Given the description of an element on the screen output the (x, y) to click on. 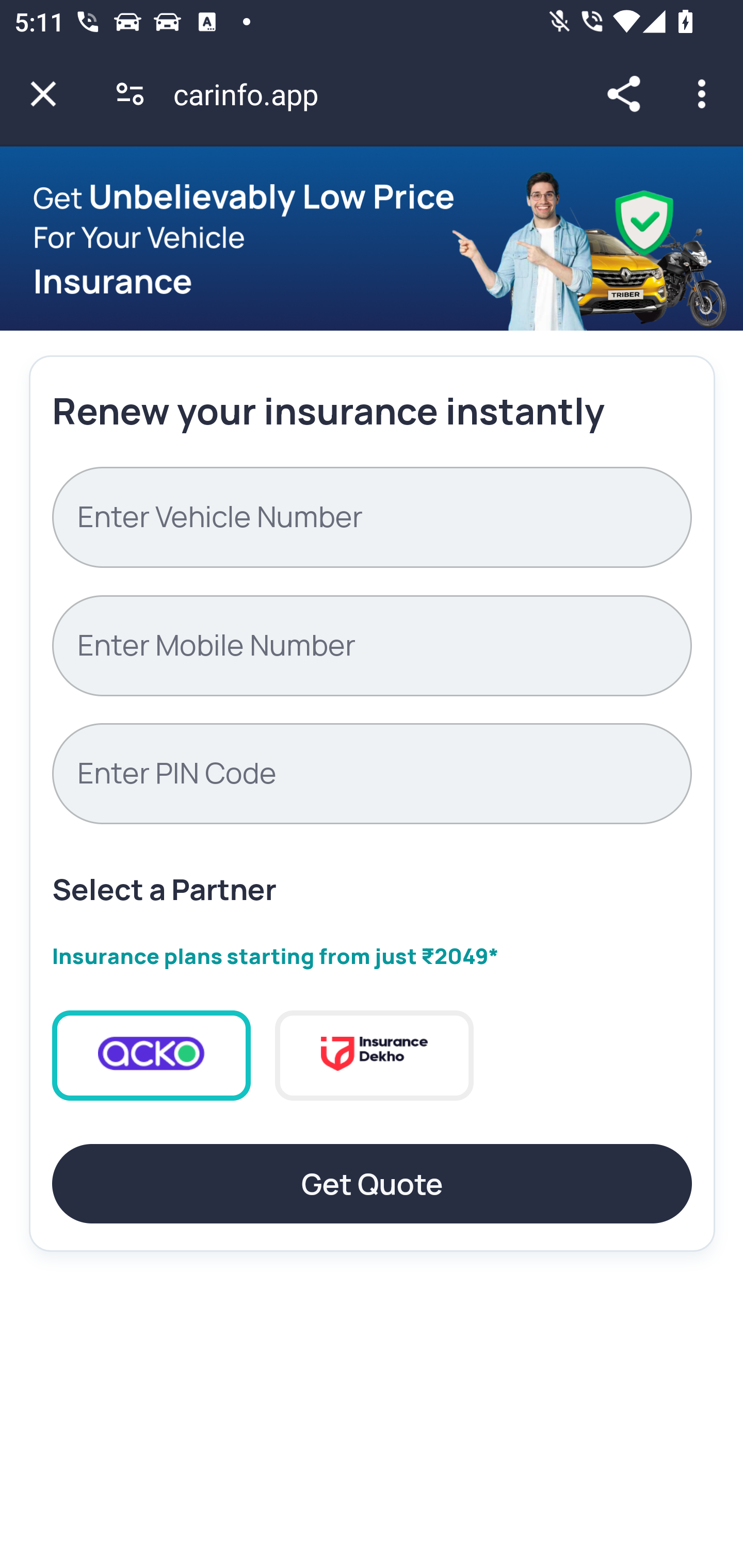
Close tab (43, 93)
Share (623, 93)
Customize and control Google Chrome (705, 93)
Connection is secure (129, 93)
carinfo.app (252, 93)
Get Quote (371, 1183)
